Given the description of an element on the screen output the (x, y) to click on. 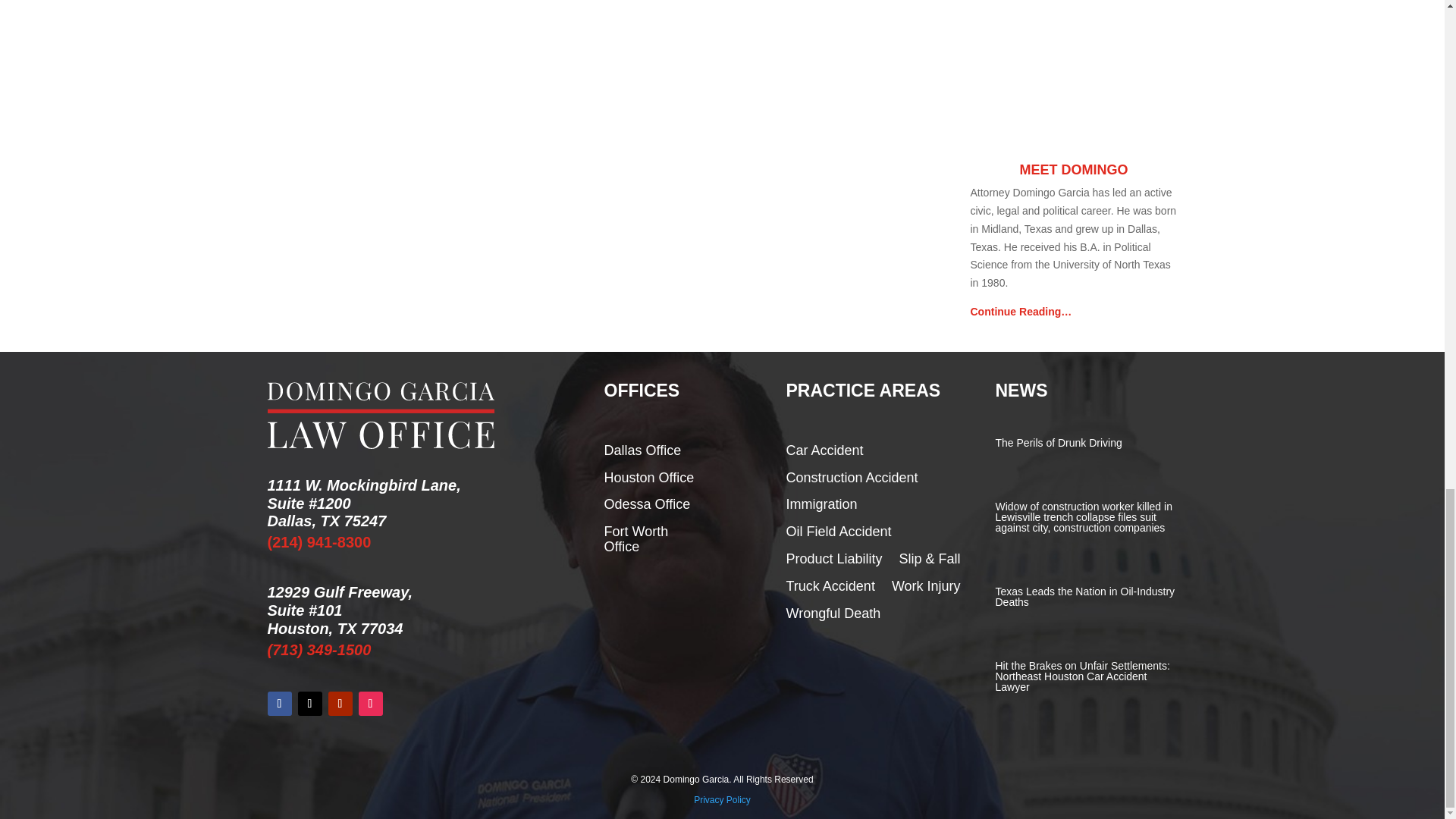
logo (380, 415)
Follow on Instagram (369, 703)
Follow on Facebook (278, 703)
Phone Number (318, 541)
Phone Number (318, 649)
Follow on X (309, 703)
Follow on Youtube (339, 703)
